Given the description of an element on the screen output the (x, y) to click on. 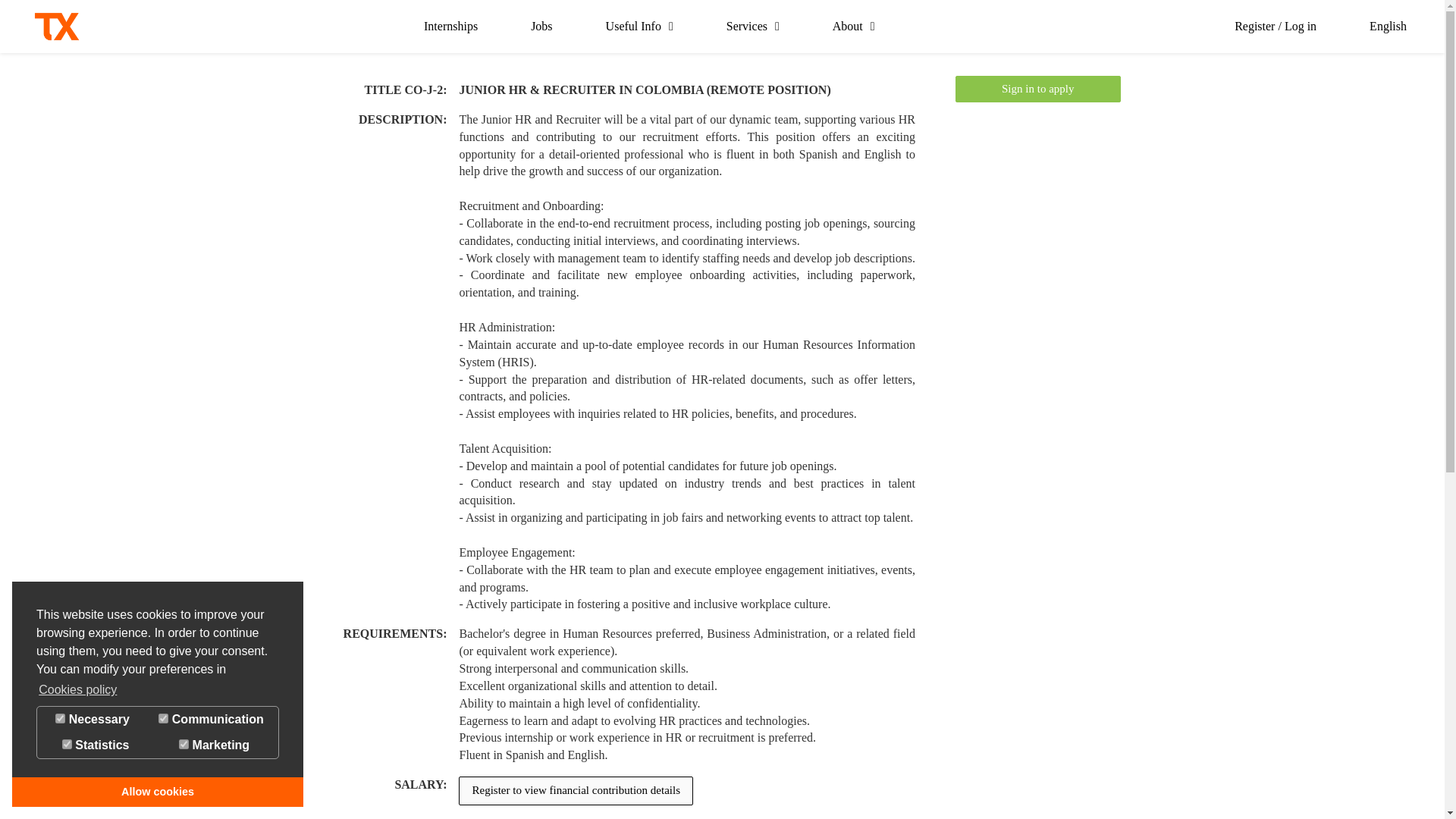
Home (56, 26)
English (1388, 26)
Sign in to apply (1038, 89)
Register to view financial contribution details (575, 790)
Useful Info (639, 26)
Internships (450, 26)
Services (752, 26)
Allow cookies (156, 791)
Cookies policy (77, 689)
About (853, 26)
on (60, 717)
